Given the description of an element on the screen output the (x, y) to click on. 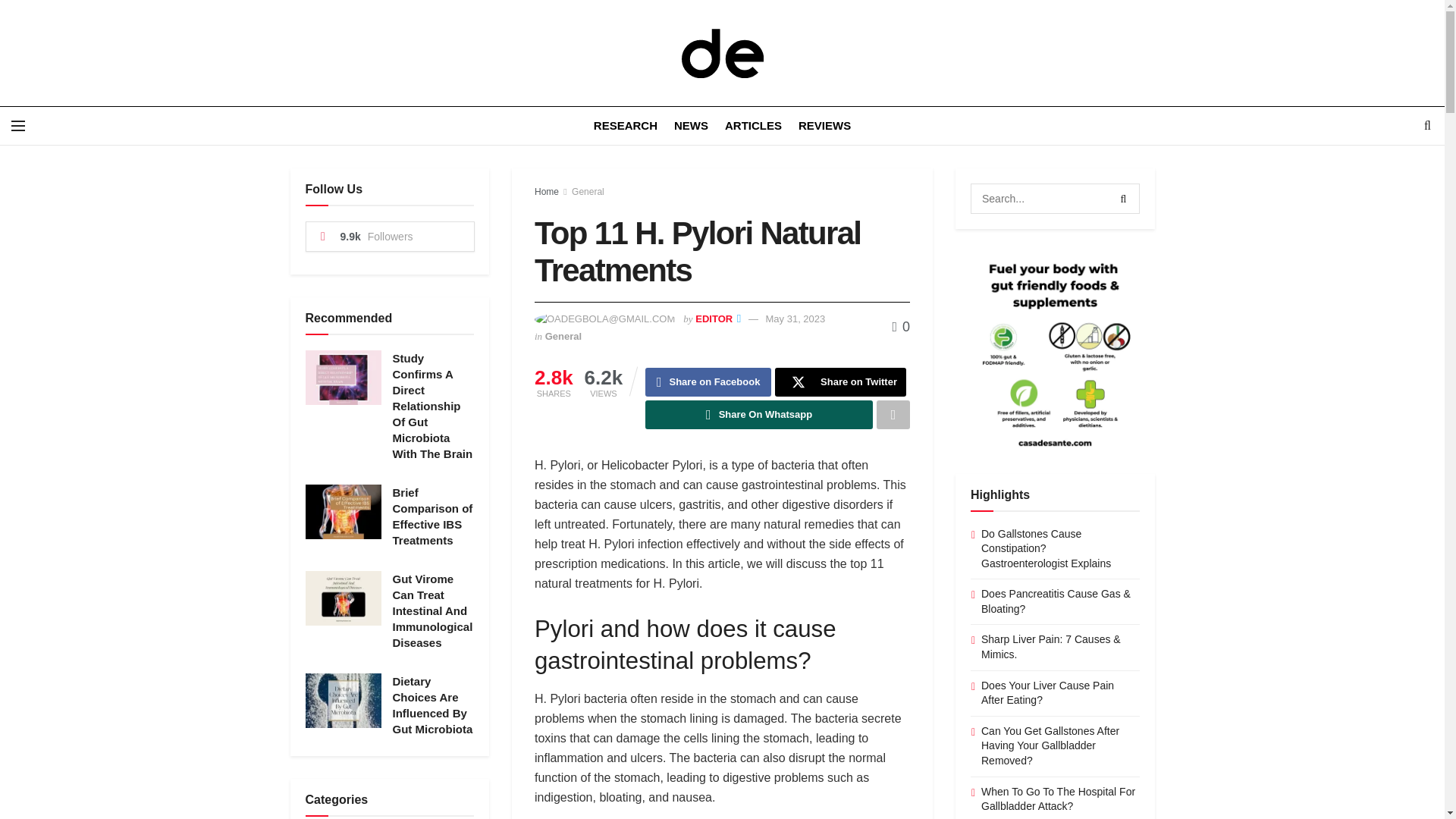
0 (900, 326)
REVIEWS (823, 125)
EDITOR (713, 318)
Home (546, 191)
May 31, 2023 (795, 318)
Share on Twitter (839, 381)
RESEARCH (626, 125)
NEWS (690, 125)
ARTICLES (753, 125)
General (562, 336)
General (588, 191)
Share On Whatsapp (758, 414)
Share on Facebook (708, 381)
